Given the description of an element on the screen output the (x, y) to click on. 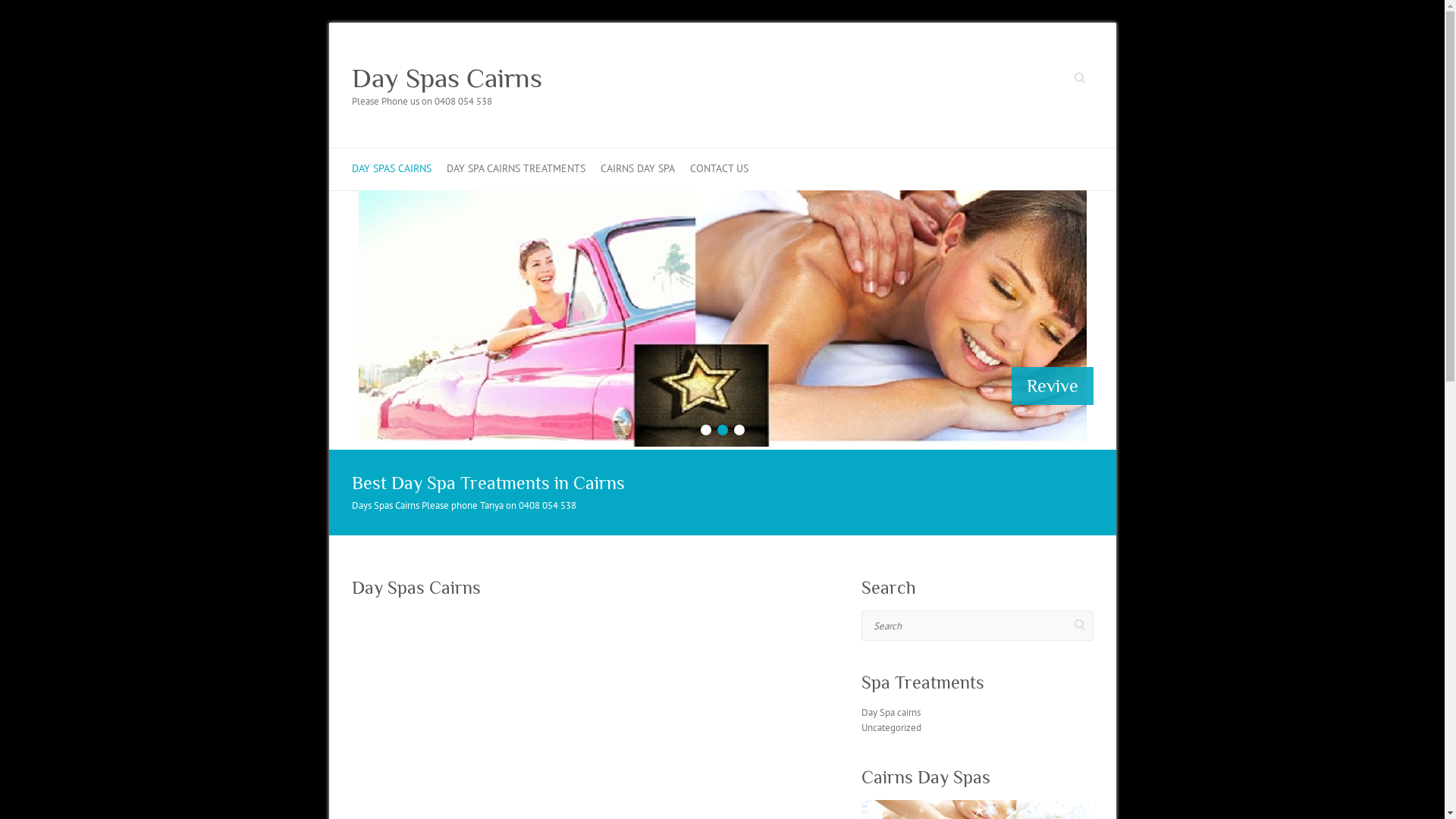
Day Spas Cairns Element type: text (446, 78)
Revive Element type: text (1052, 385)
CAIRNS DAY SPA Element type: text (637, 169)
CONTACT US Element type: text (719, 169)
DAY SPAS CAIRNS Element type: text (391, 169)
Revive Element type: hover (721, 318)
DAY SPA CAIRNS TREATMENTS Element type: text (514, 169)
Uncategorized Element type: text (891, 727)
3 Element type: text (739, 429)
2 Element type: text (722, 429)
1 Element type: text (705, 429)
Revive Element type: hover (721, 197)
Day Spa cairns Element type: text (890, 712)
